Given the description of an element on the screen output the (x, y) to click on. 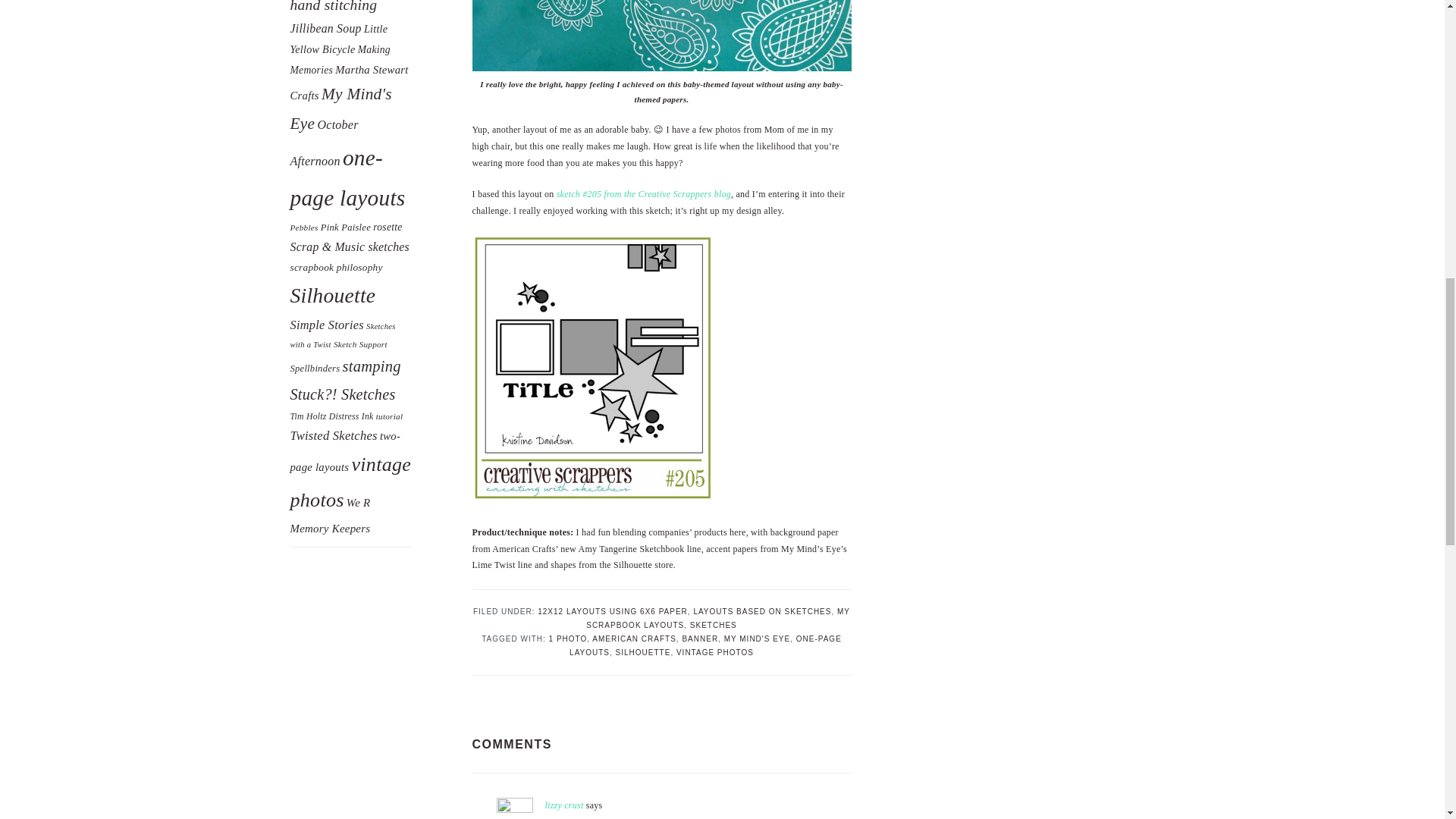
1 PHOTO (568, 638)
SILHOUETTE (643, 652)
SKETCHES (713, 624)
BANNER (699, 638)
MY MIND'S EYE (756, 638)
ONE-PAGE LAYOUTS (705, 645)
AMERICAN CRAFTS (634, 638)
12X12 LAYOUTS USING 6X6 PAPER (612, 611)
VINTAGE PHOTOS (715, 652)
lizzy crust (563, 805)
